Given the description of an element on the screen output the (x, y) to click on. 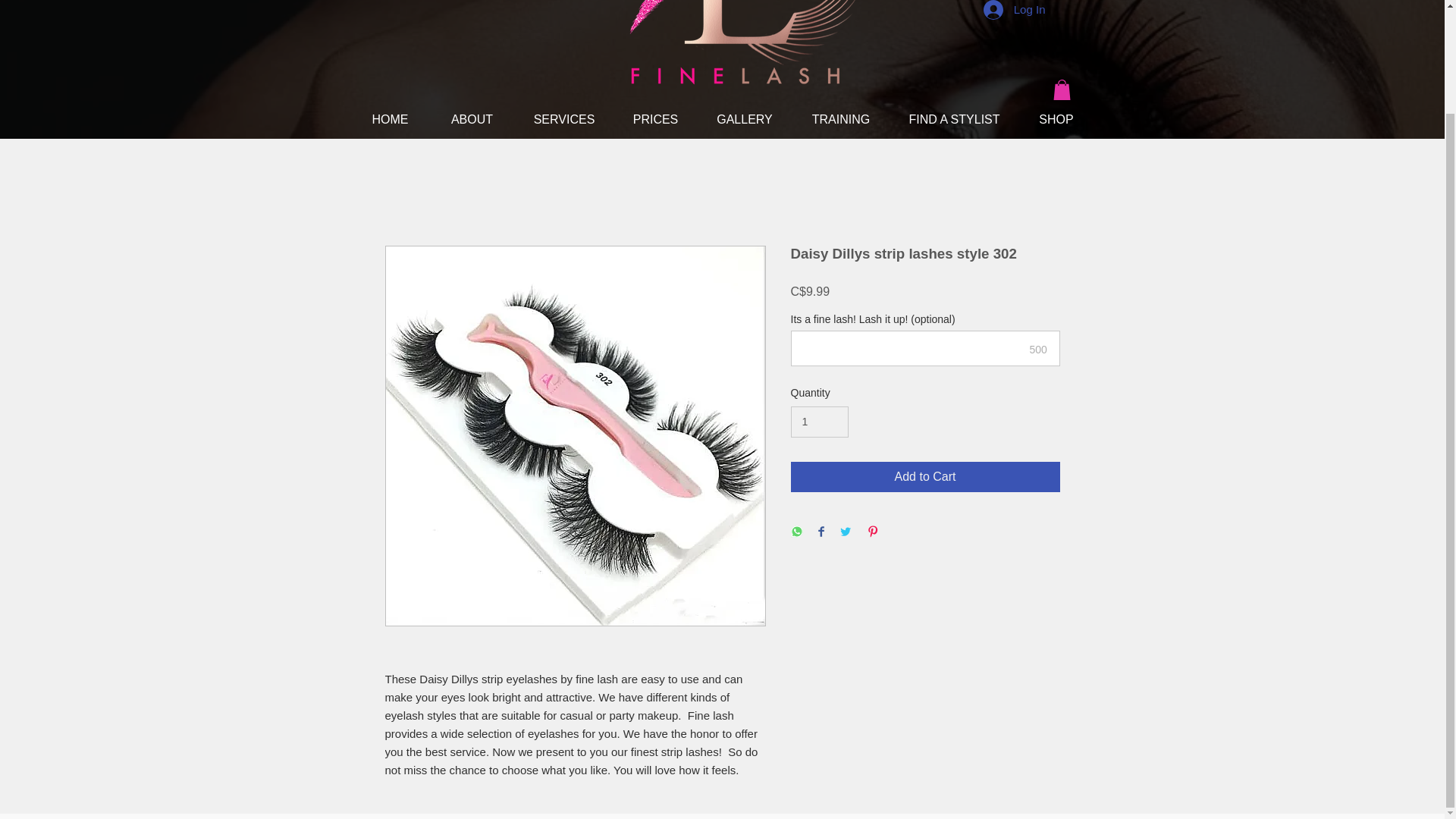
PRICES (655, 119)
ABOUT (471, 119)
SHOP (1056, 119)
GALLERY (744, 119)
SERVICES (562, 119)
Add to Cart (924, 476)
HOME (389, 119)
1 (818, 421)
TRAINING (840, 119)
FIND A STYLIST (954, 119)
Log In (1014, 11)
